Given the description of an element on the screen output the (x, y) to click on. 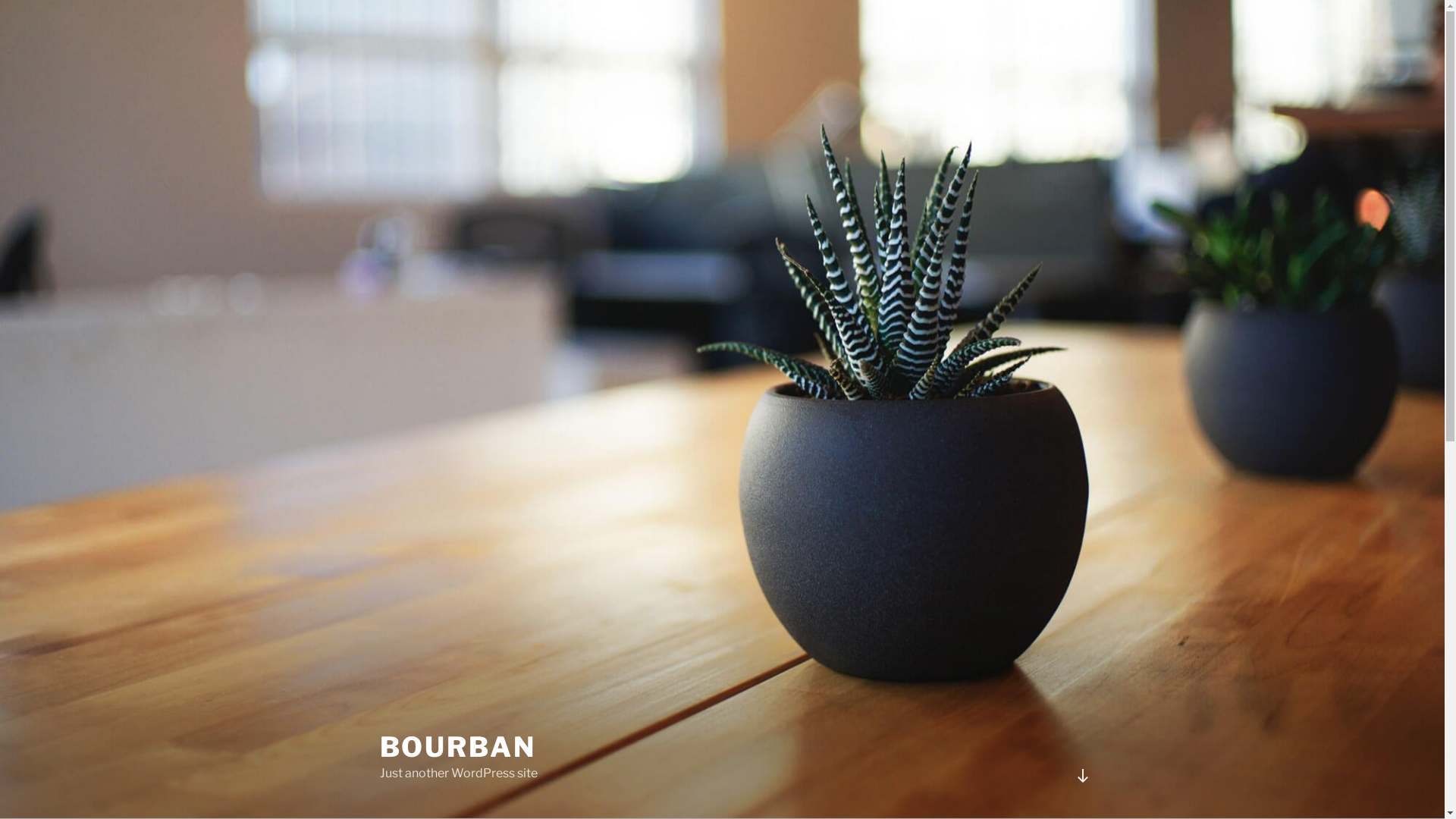
BOURBAN Element type: text (457, 746)
Skip to content Element type: text (0, 0)
Scroll down to content Element type: text (1082, 775)
